Given the description of an element on the screen output the (x, y) to click on. 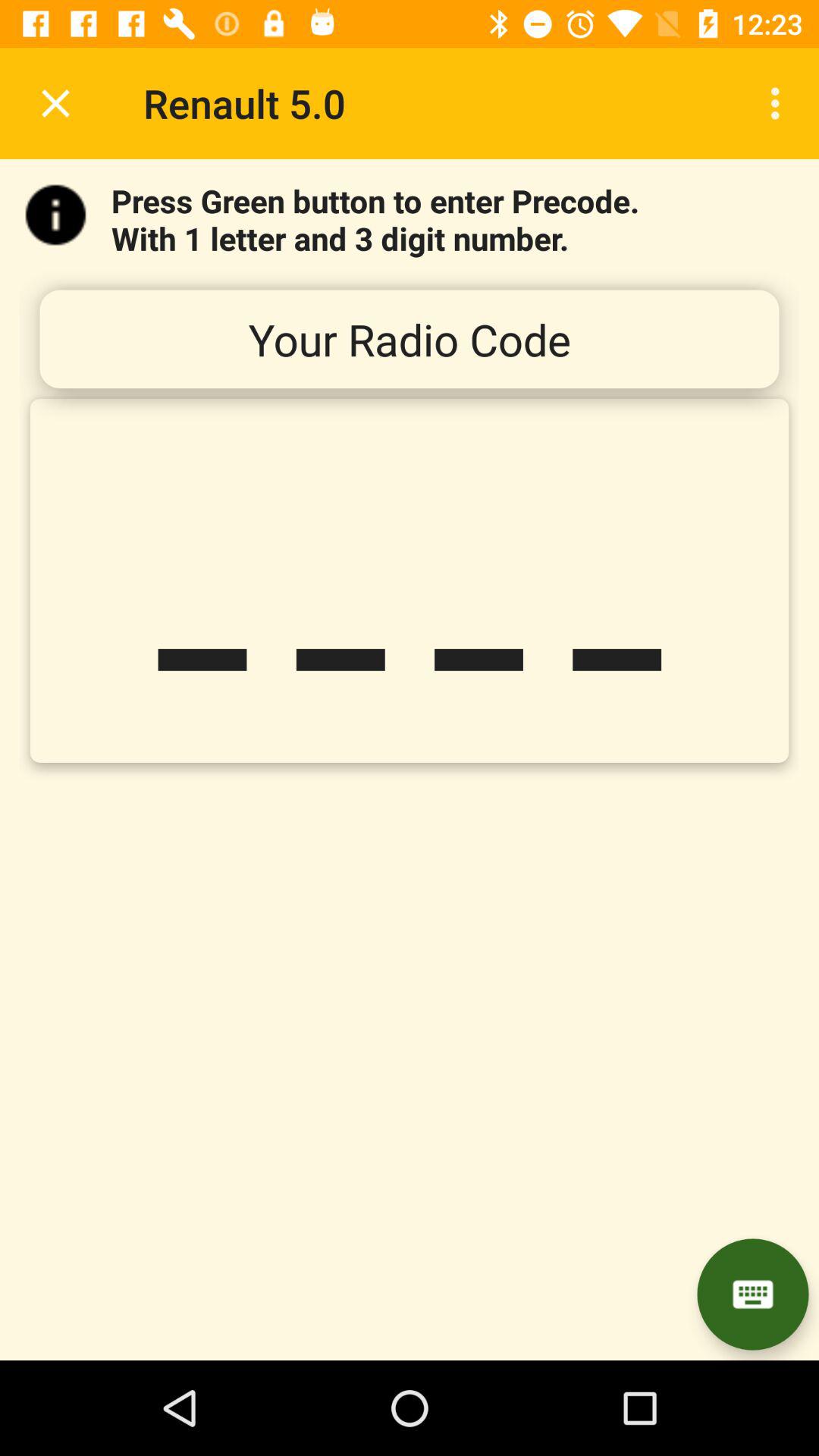
turn on item at the bottom right corner (752, 1294)
